Given the description of an element on the screen output the (x, y) to click on. 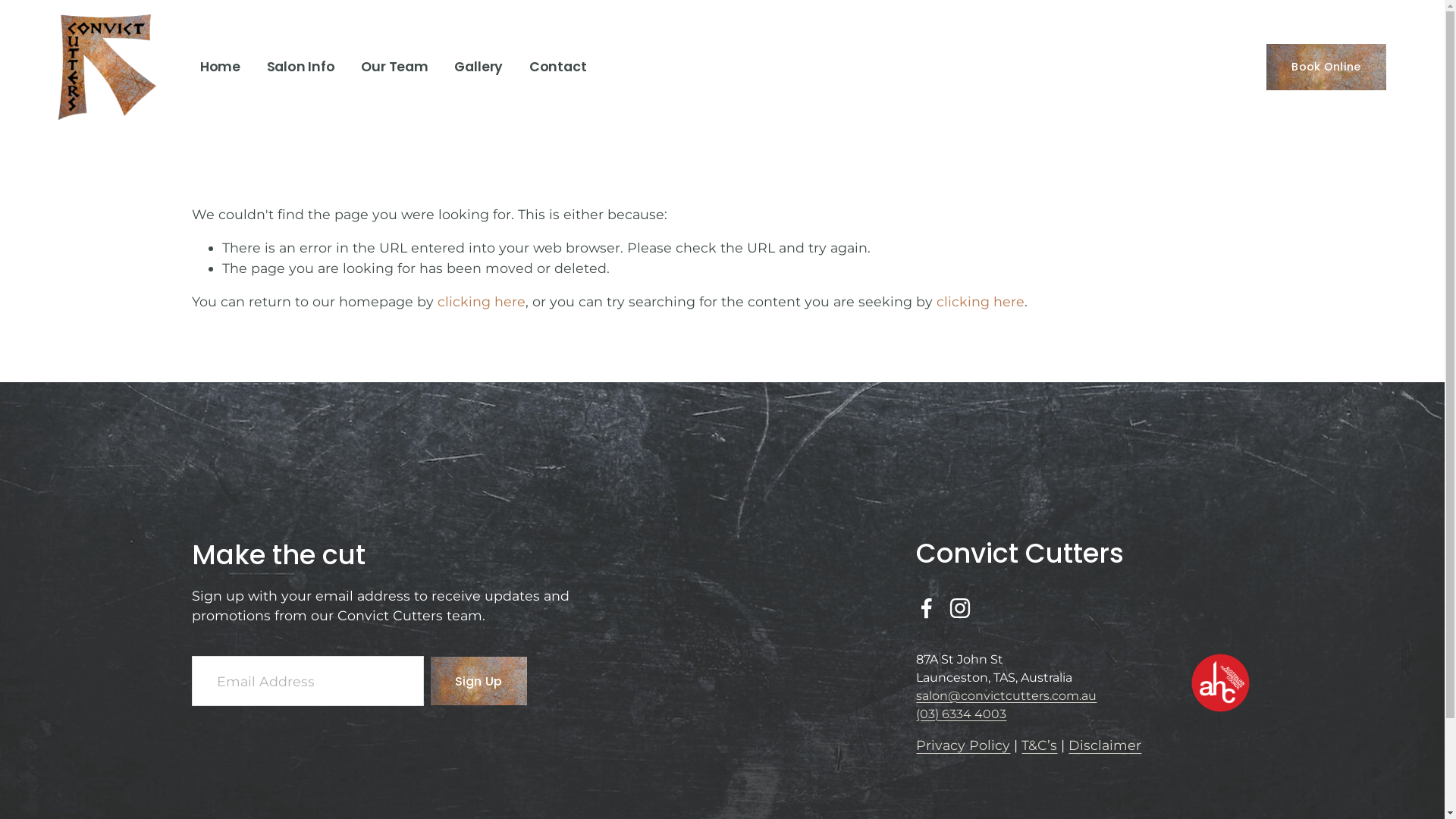
clicking here Element type: text (979, 301)
Contact Element type: text (557, 66)
Privacy Policy Element type: text (963, 745)
salon@convictcutters.com.au Element type: text (1006, 696)
Home Element type: text (220, 66)
Book Online Element type: text (1326, 66)
Disclaimer Element type: text (1104, 745)
Our Team Element type: text (394, 66)
clicking here Element type: text (480, 301)
Salon Info Element type: text (300, 66)
(03) 6334 4003 Element type: text (961, 714)
Gallery Element type: text (478, 66)
Sign Up Element type: text (478, 680)
